Given the description of an element on the screen output the (x, y) to click on. 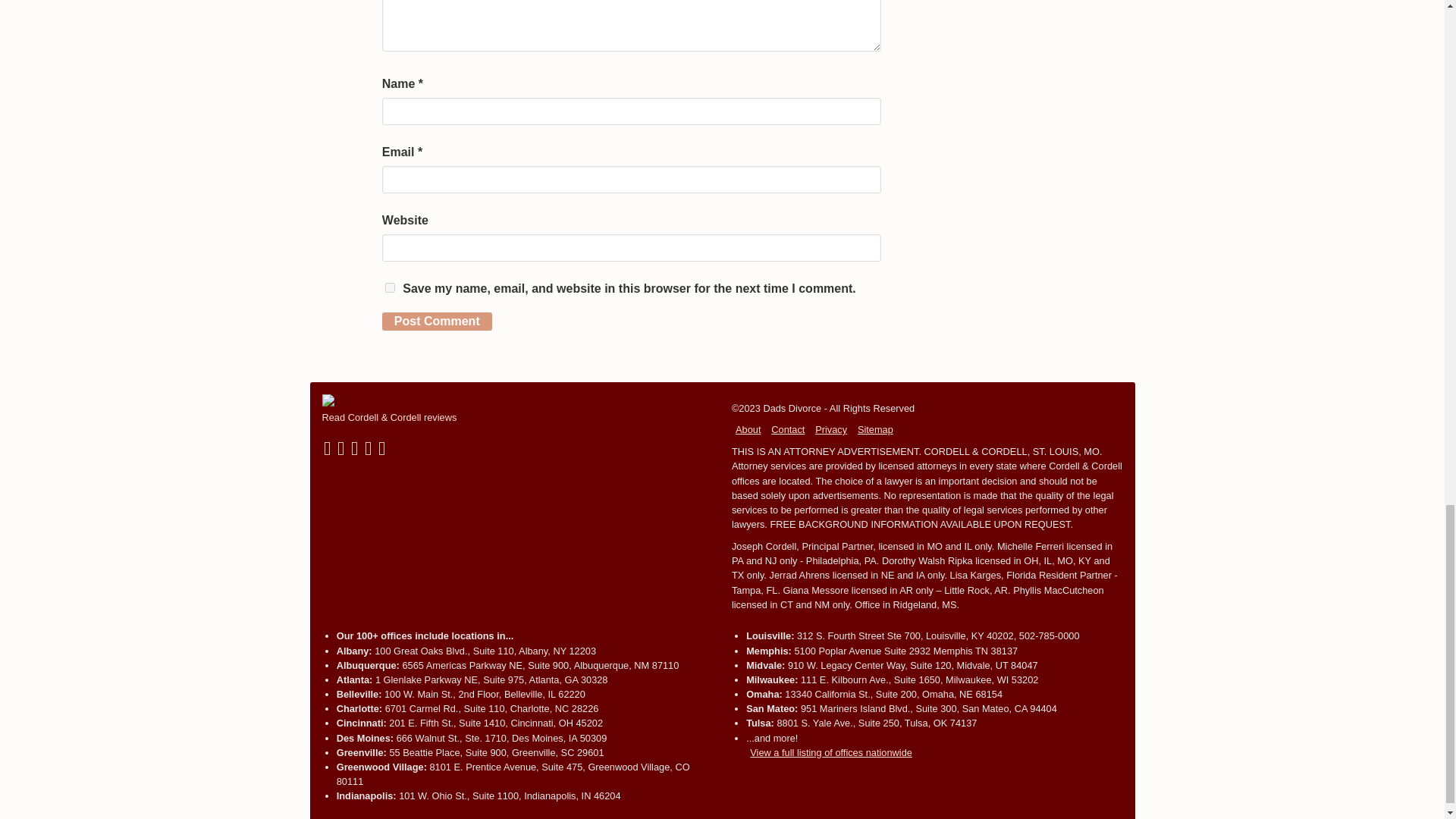
yes (389, 287)
Post Comment (436, 321)
Post Comment (436, 321)
